Given the description of an element on the screen output the (x, y) to click on. 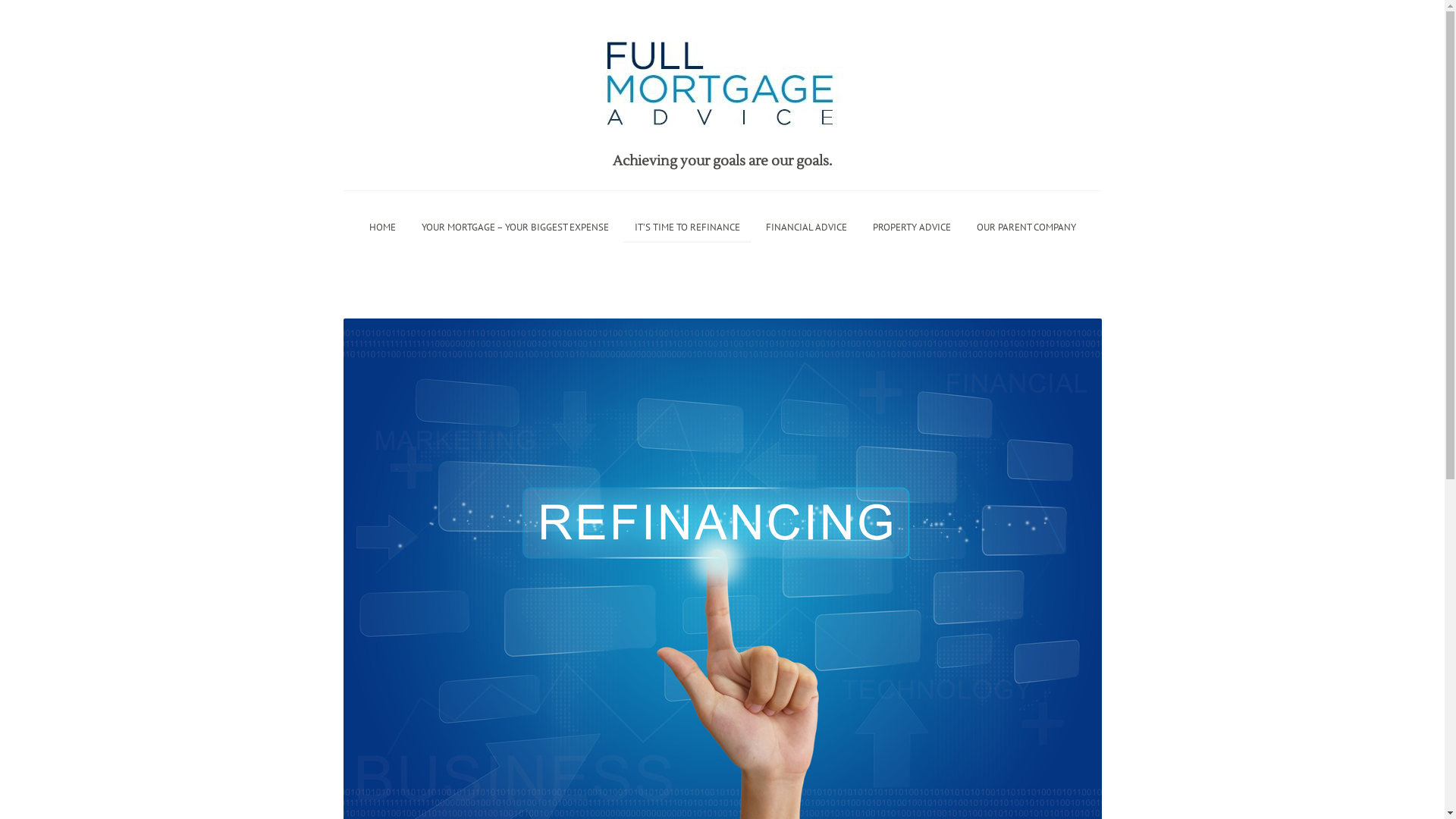
PROPERTY ADVICE Element type: text (911, 226)
Full Mortgage Advice Element type: hover (722, 69)
Search Element type: text (30, 12)
OUR PARENT COMPANY Element type: text (1025, 226)
FINANCIAL ADVICE Element type: text (805, 226)
HOME Element type: text (382, 226)
